Given the description of an element on the screen output the (x, y) to click on. 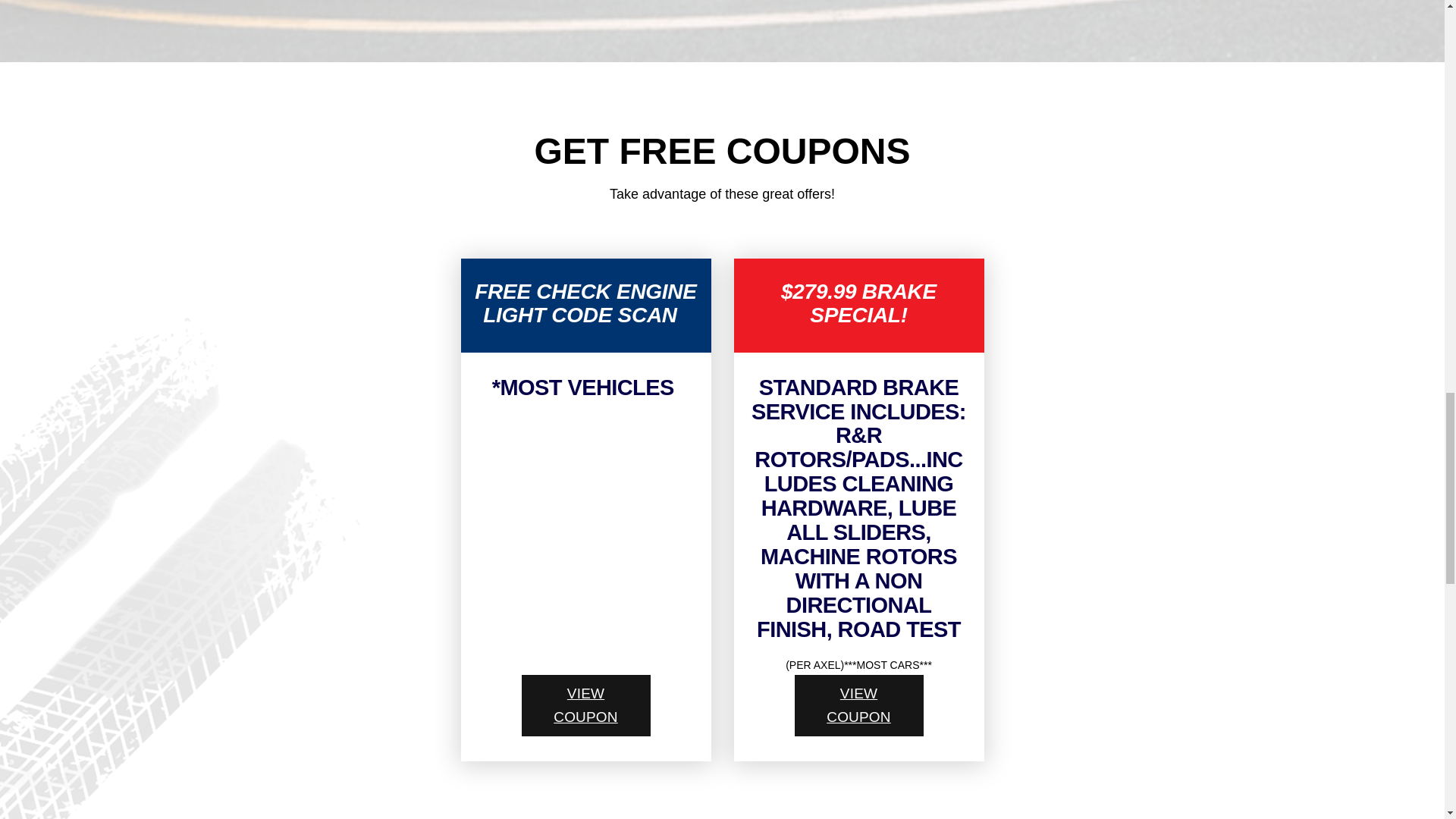
VIEW COUPON (585, 705)
